Given the description of an element on the screen output the (x, y) to click on. 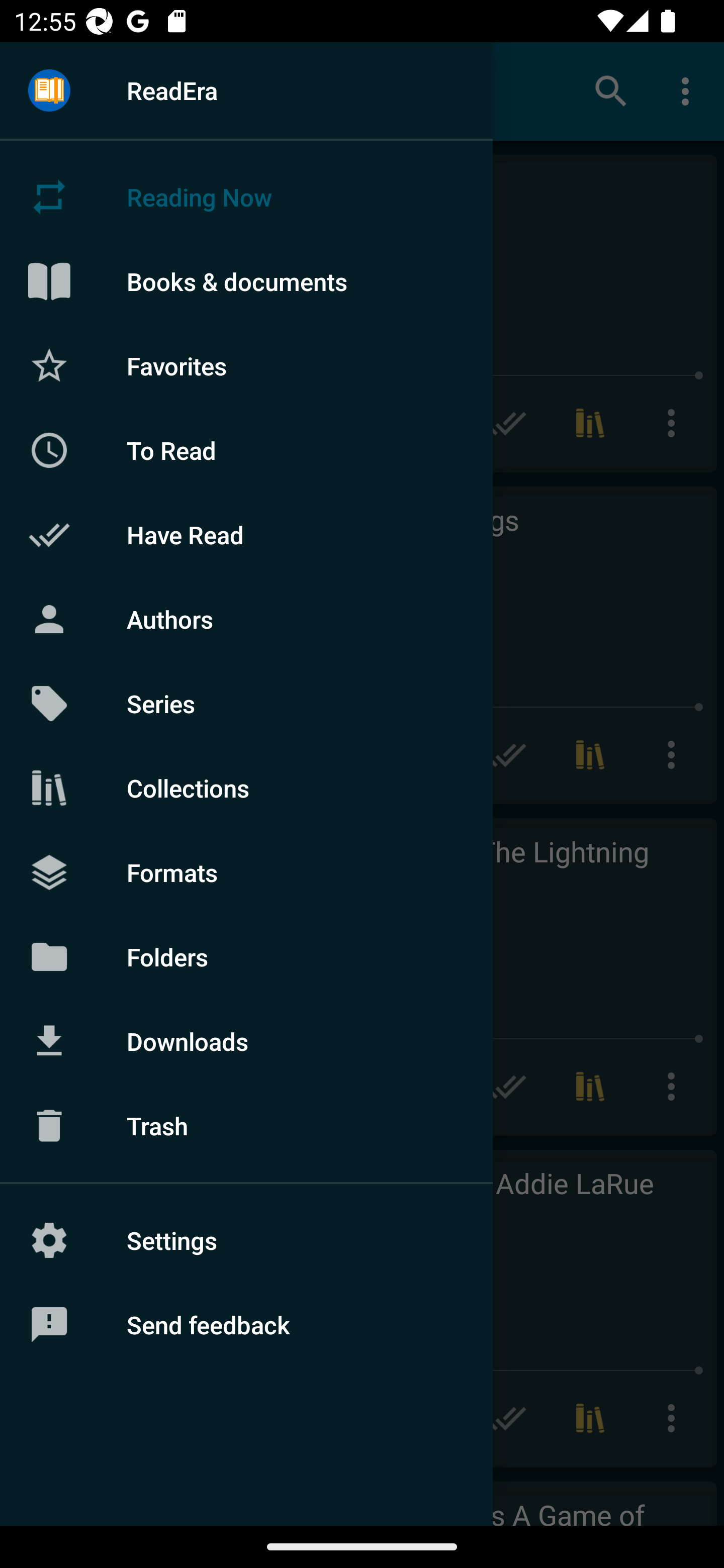
Menu (49, 91)
ReadEra (246, 89)
Search books & documents (611, 90)
More options (688, 90)
Reading Now (246, 197)
Books & documents (246, 281)
Favorites (246, 365)
To Read (246, 449)
Have Read (246, 534)
Authors (246, 619)
Series (246, 703)
Collections (246, 787)
Formats (246, 871)
Folders (246, 956)
Downloads (246, 1040)
Trash (246, 1125)
Settings (246, 1239)
Send feedback (246, 1324)
